Given the description of an element on the screen output the (x, y) to click on. 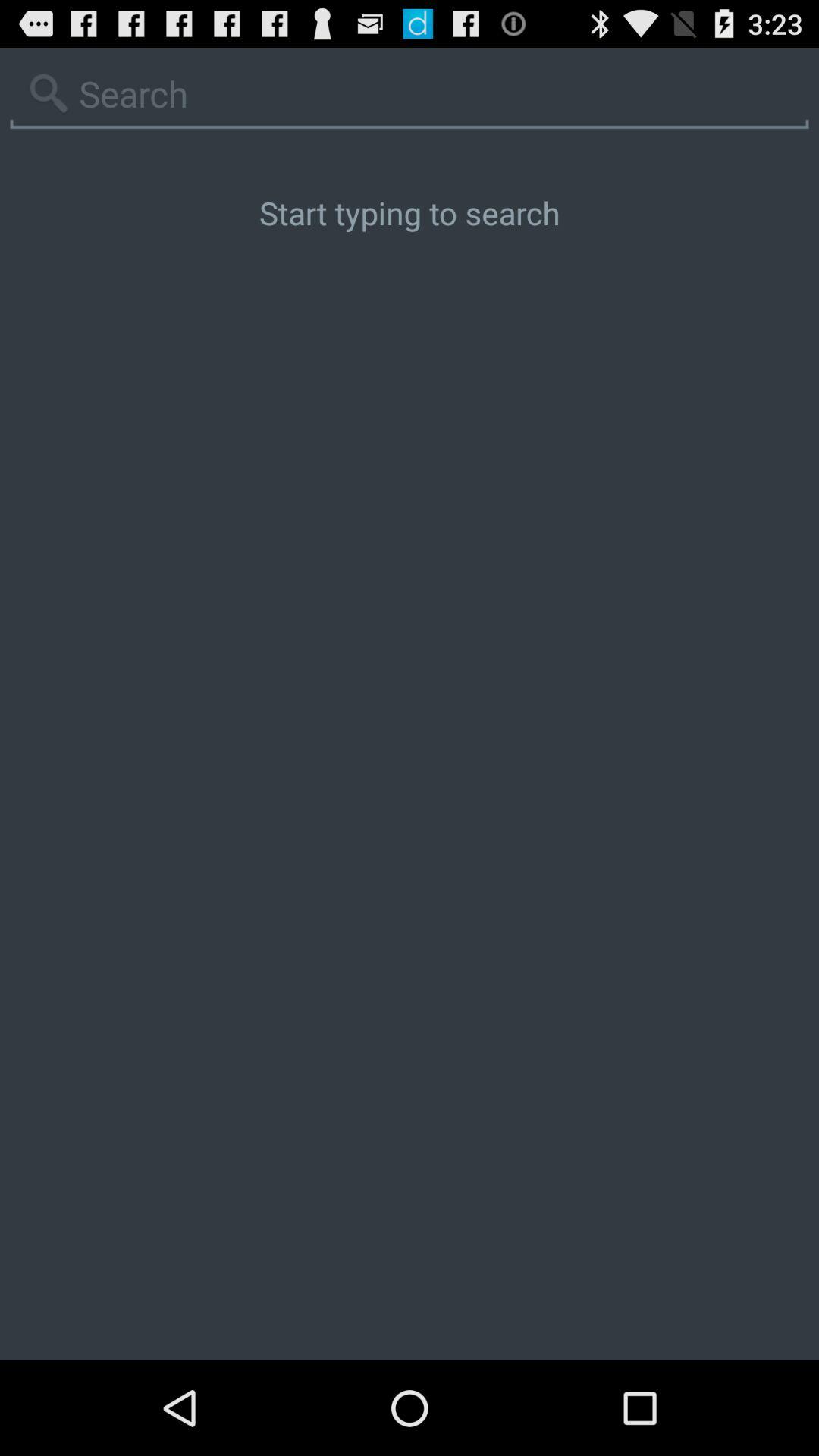
search (409, 94)
